Given the description of an element on the screen output the (x, y) to click on. 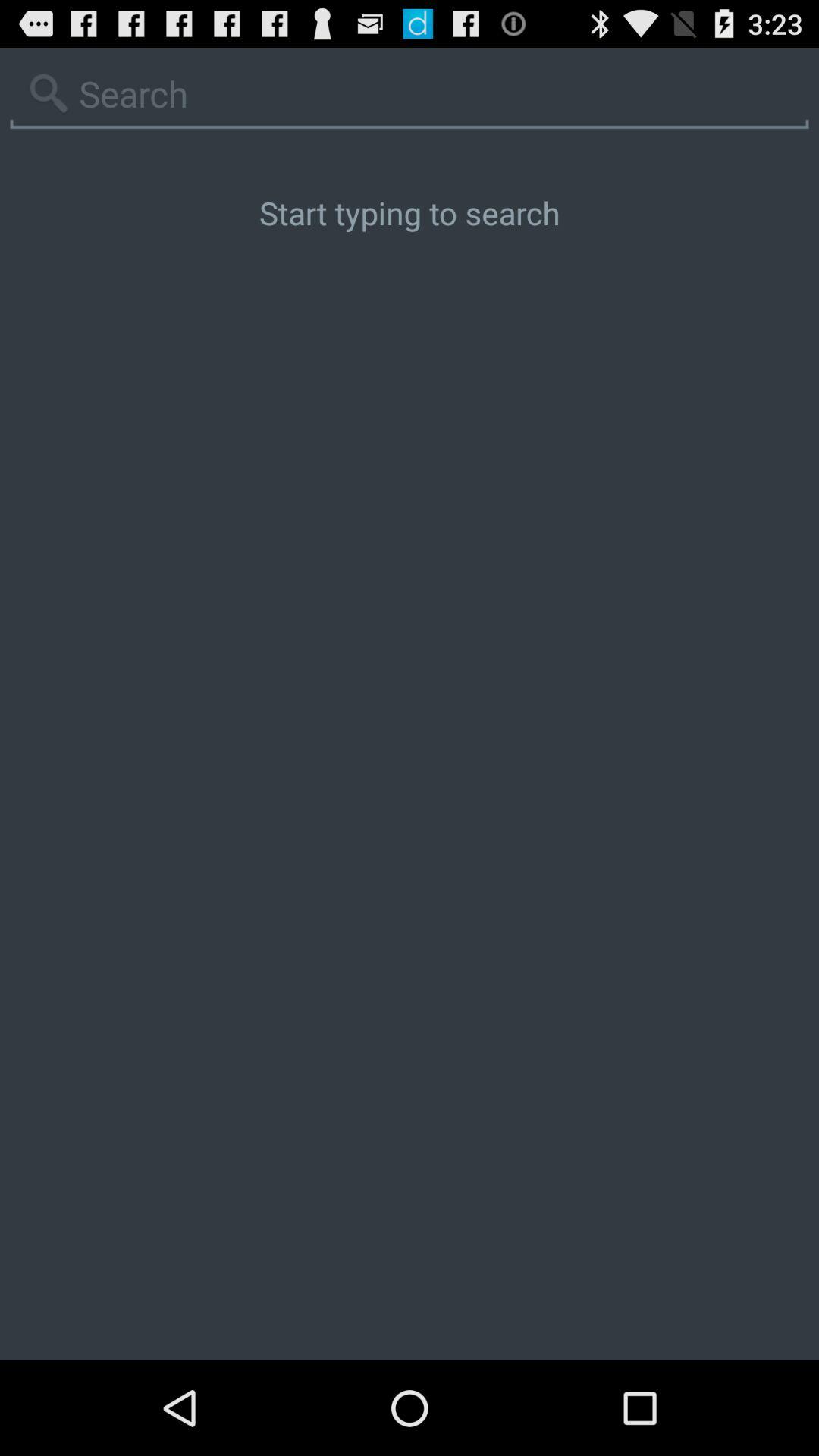
search (409, 94)
